Given the description of an element on the screen output the (x, y) to click on. 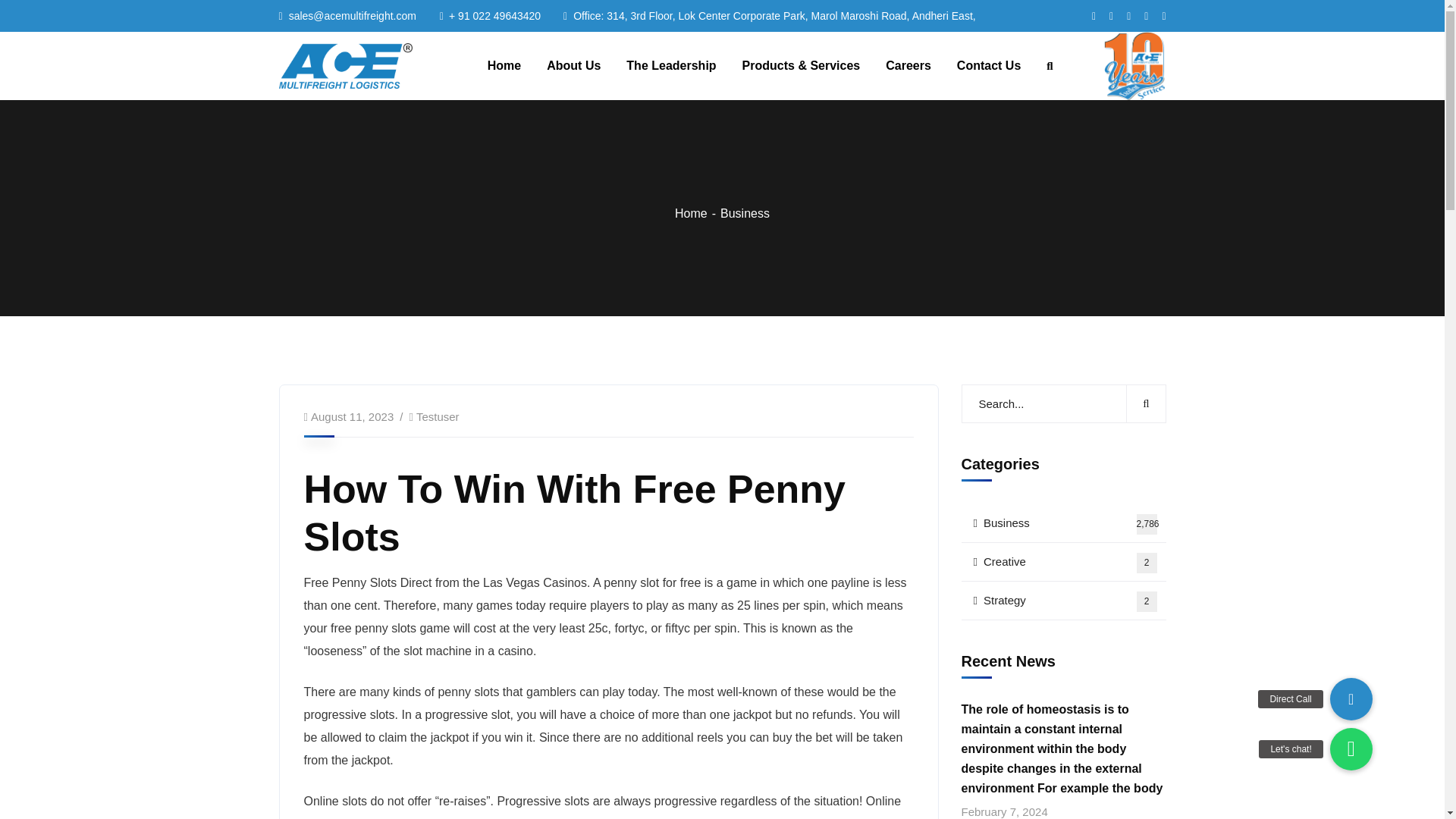
Business (745, 213)
Contact Us (988, 66)
The Leadership (1063, 561)
Testuser (1063, 600)
ACE MULTIFREIGHT LOGISTICS PVT. LTD. (671, 66)
Posts by testuser (438, 416)
